Given the description of an element on the screen output the (x, y) to click on. 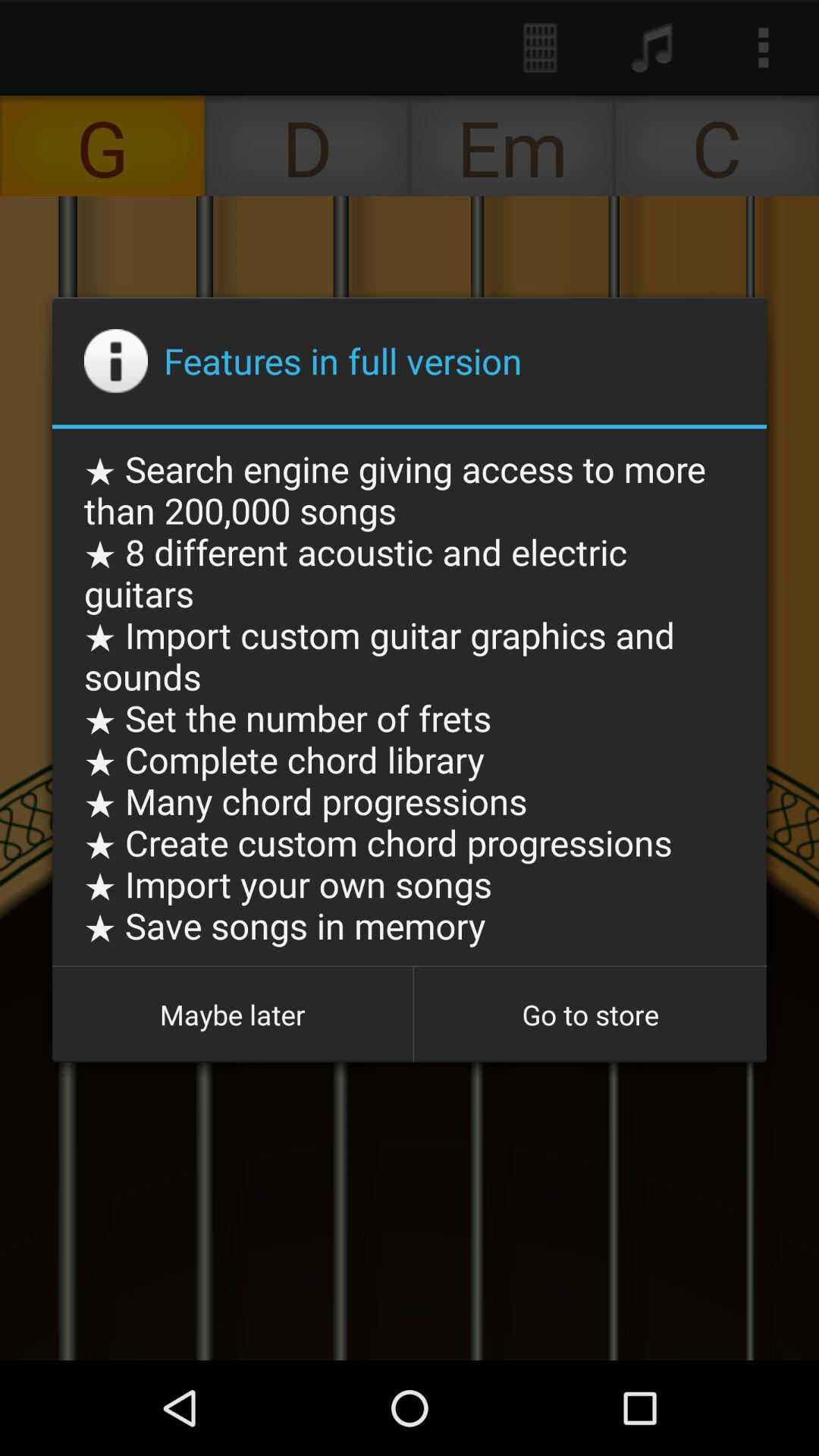
open icon next to the maybe later icon (590, 1014)
